Given the description of an element on the screen output the (x, y) to click on. 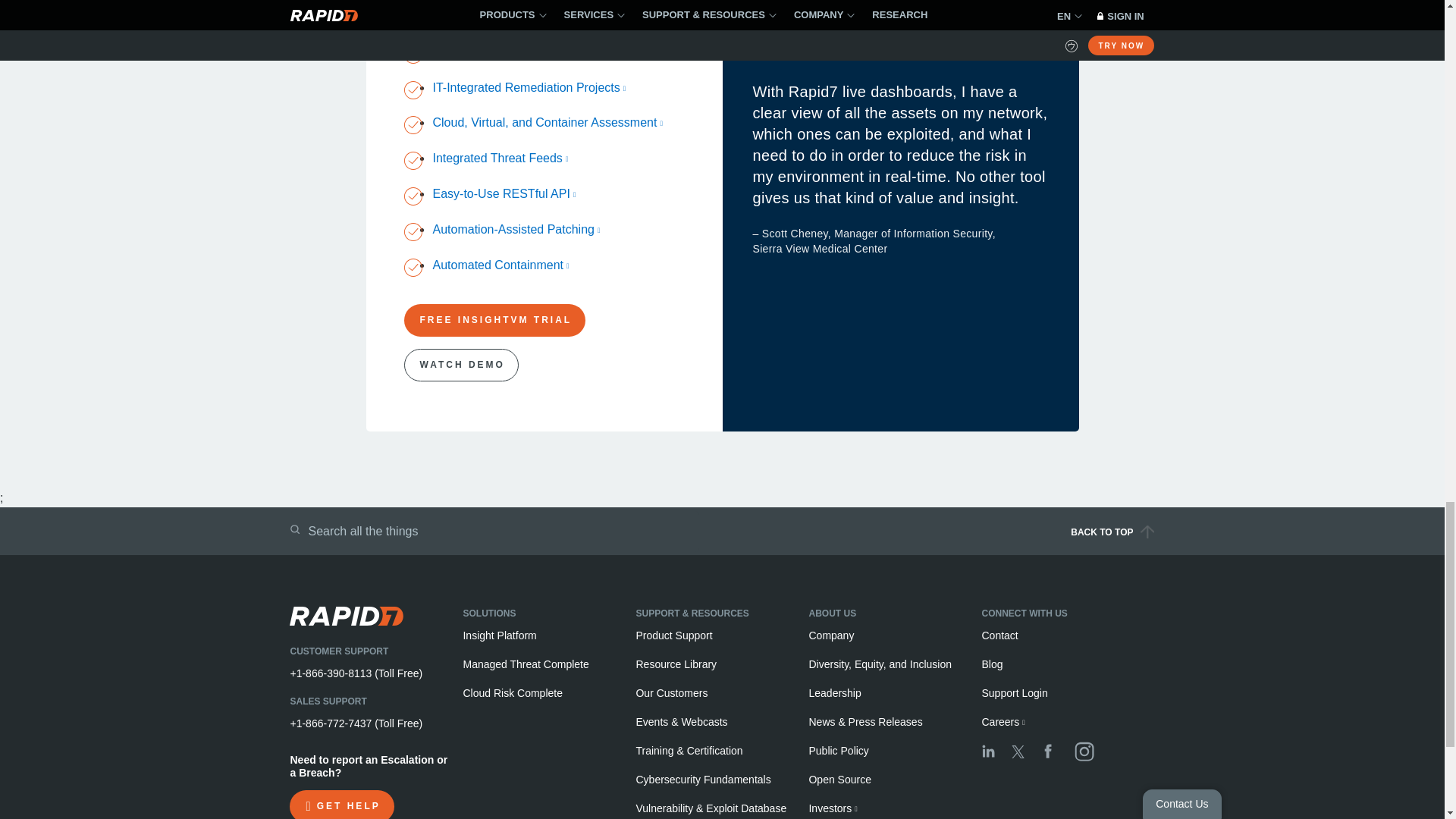
Submit Search (294, 529)
BACK TO TOP (949, 537)
Submit Search (294, 529)
